Given the description of an element on the screen output the (x, y) to click on. 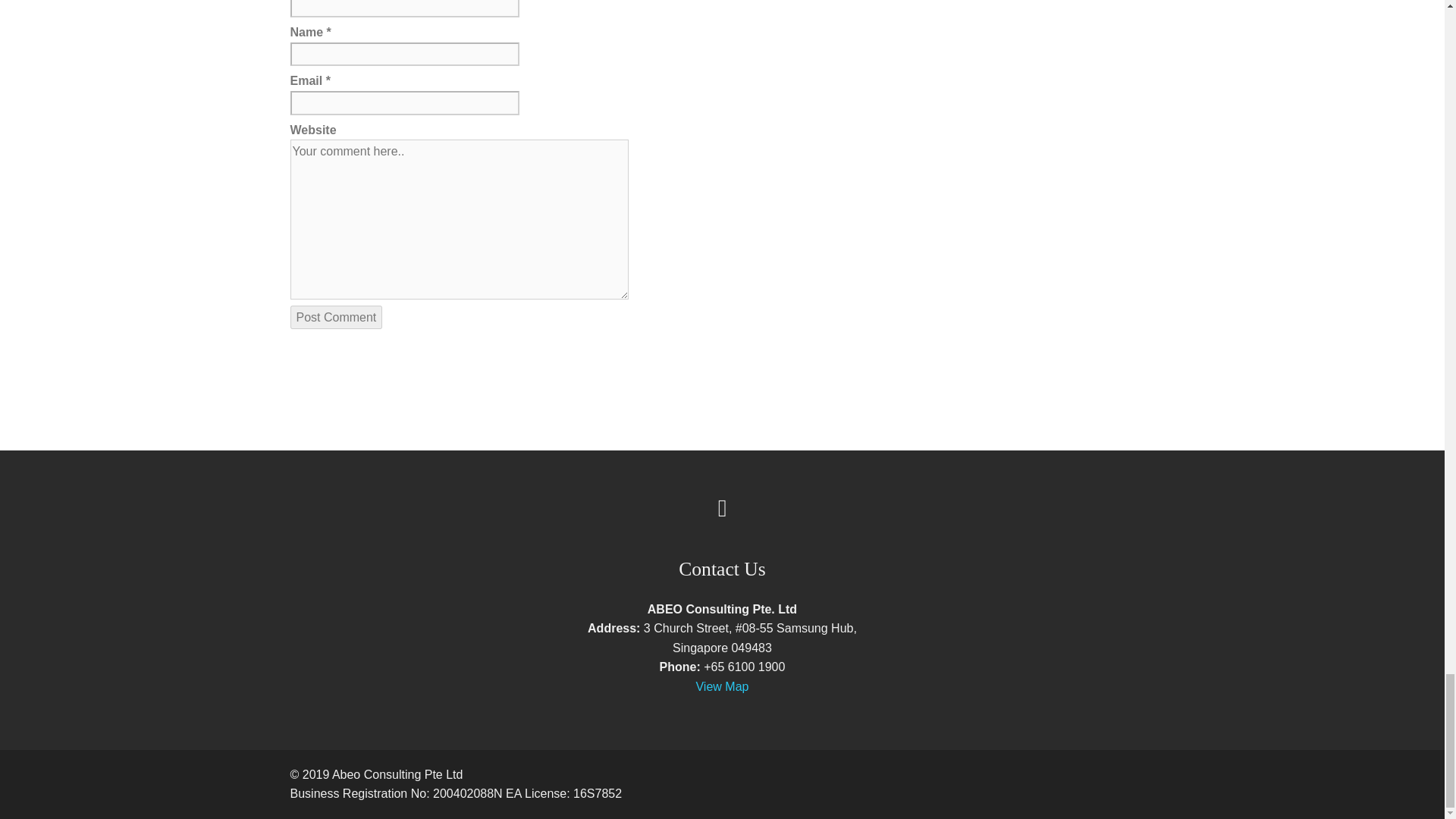
Post Comment (335, 317)
